Given the description of an element on the screen output the (x, y) to click on. 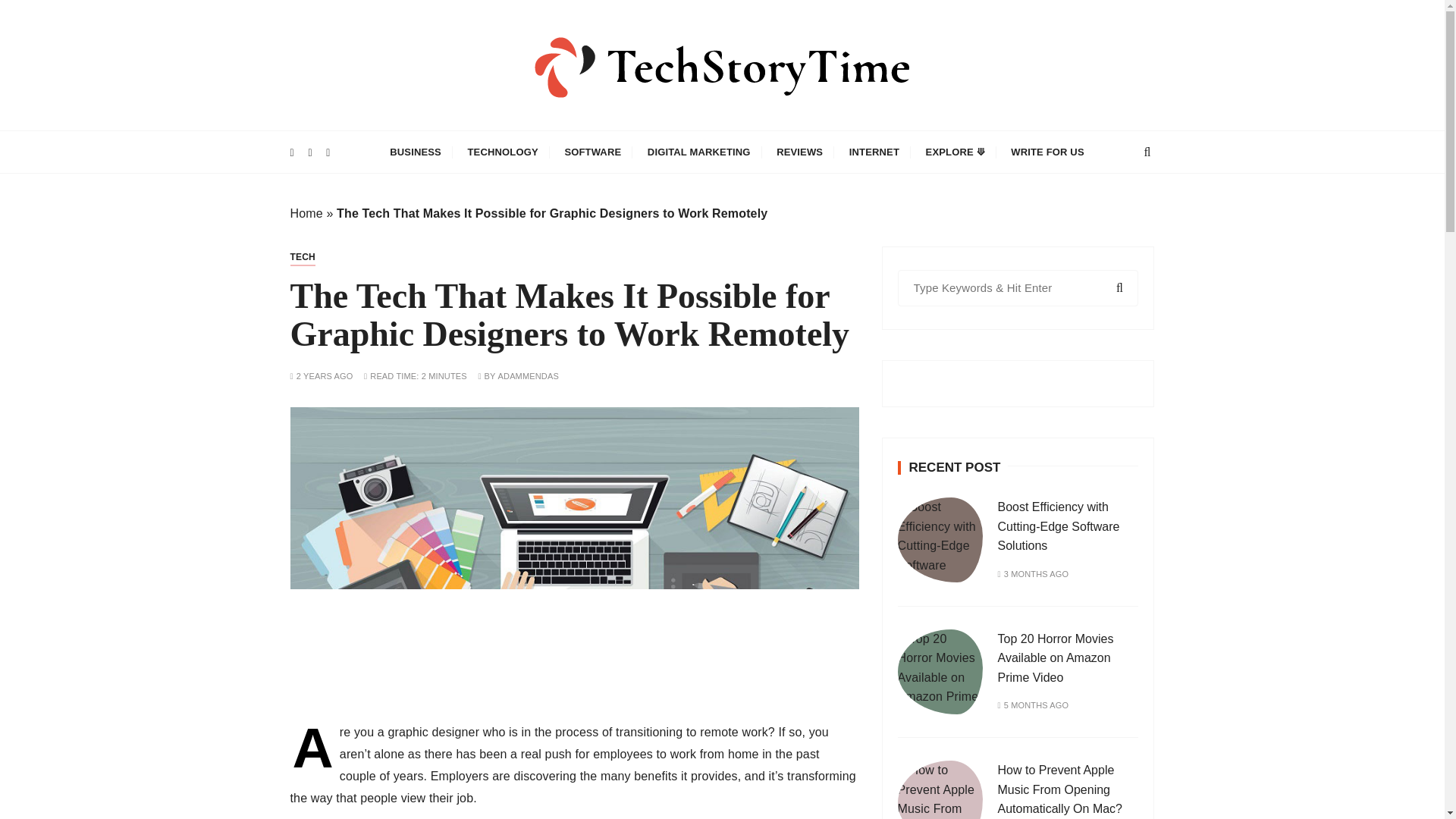
WRITE FOR US (1046, 151)
Home (305, 213)
ADAMMENDAS (528, 376)
TECH (301, 257)
INTERNET (874, 151)
BUSINESS (415, 151)
REVIEWS (799, 151)
DIGITAL MARKETING (698, 151)
SOFTWARE (592, 151)
TECHNOLOGY (503, 151)
